Given the description of an element on the screen output the (x, y) to click on. 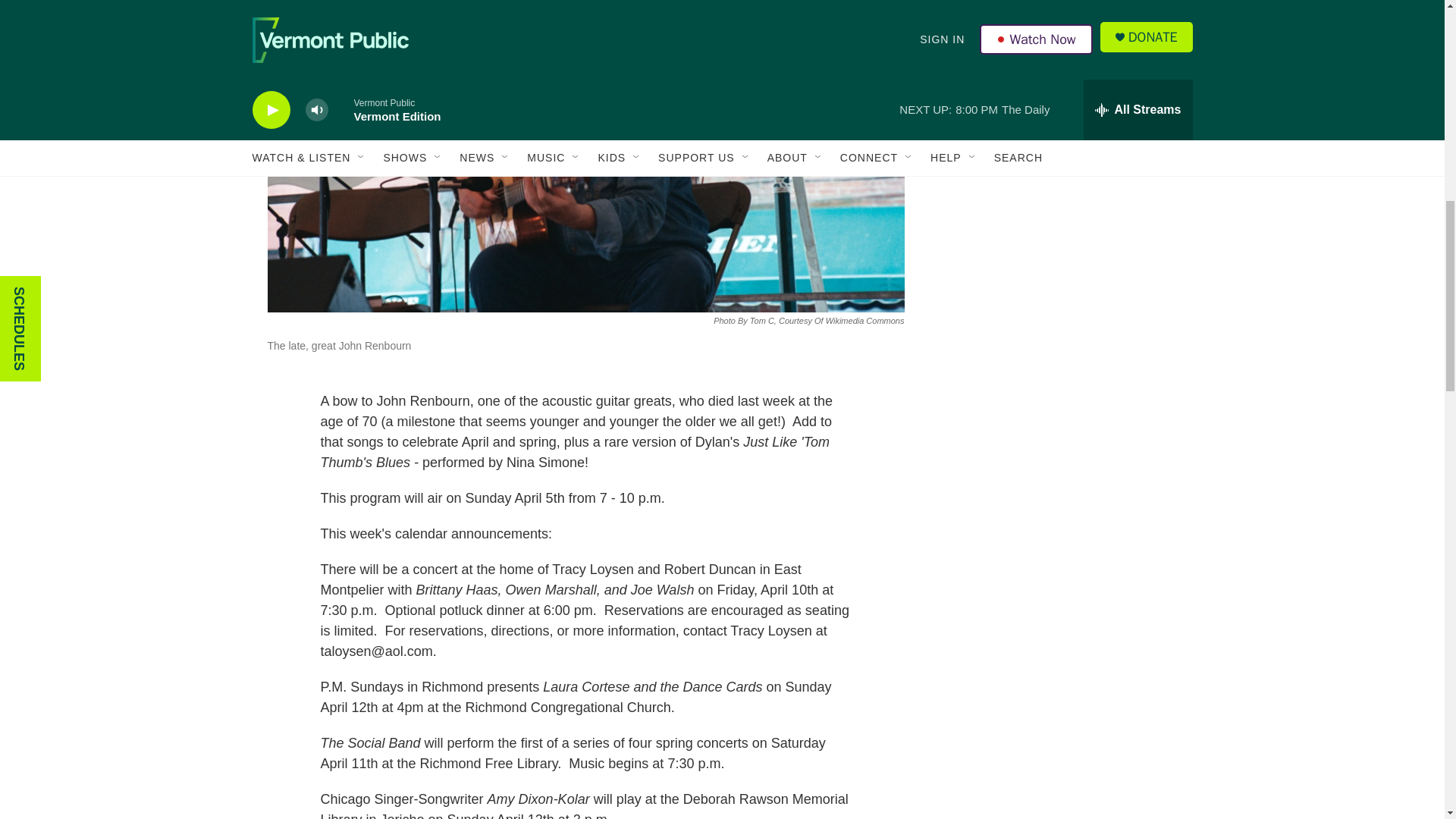
3rd party ad content (1062, 124)
3rd party ad content (1062, 343)
